Given the description of an element on the screen output the (x, y) to click on. 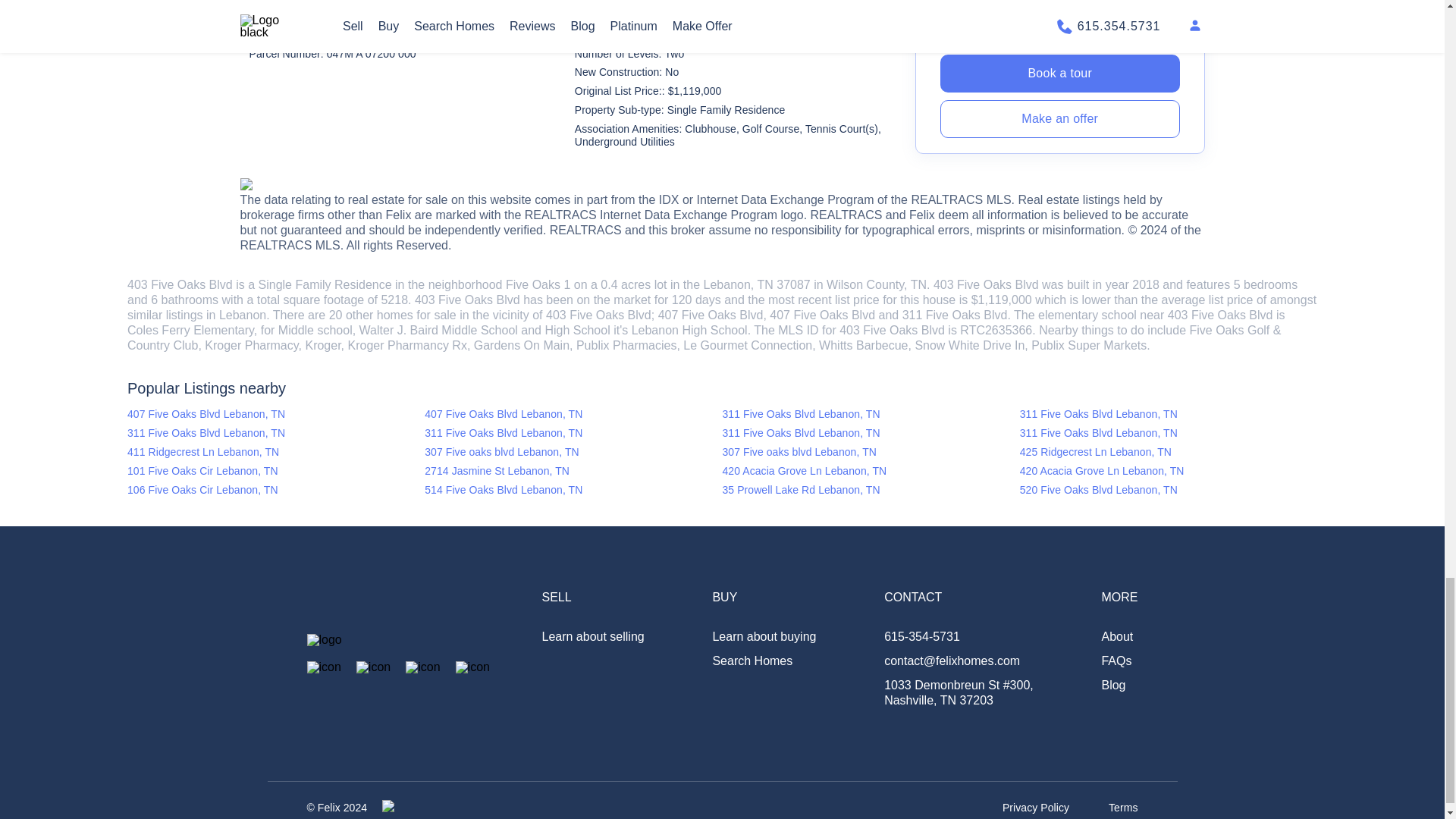
311 Five Oaks Blvd Lebanon, TN (870, 413)
411 Ridgecrest Ln Lebanon, TN (276, 451)
311 Five Oaks Blvd Lebanon, TN (573, 432)
514 Five Oaks Blvd Lebanon, TN (573, 490)
407 Five Oaks Blvd (822, 314)
420 Acacia Grove Ln Lebanon, TN (870, 471)
311 Five Oaks Blvd Lebanon, TN (1168, 413)
2714 Jasmine St Lebanon, TN (573, 471)
101 Five Oaks Cir Lebanon, TN (276, 471)
307 Five oaks blvd Lebanon, TN (573, 451)
311 Five Oaks Blvd Lebanon, TN (870, 432)
311 Five Oaks Blvd Lebanon, TN (1168, 432)
307 Five oaks blvd Lebanon, TN (870, 451)
106 Five Oaks Cir Lebanon, TN (276, 490)
407 Five Oaks Blvd Lebanon, TN (573, 413)
